Given the description of an element on the screen output the (x, y) to click on. 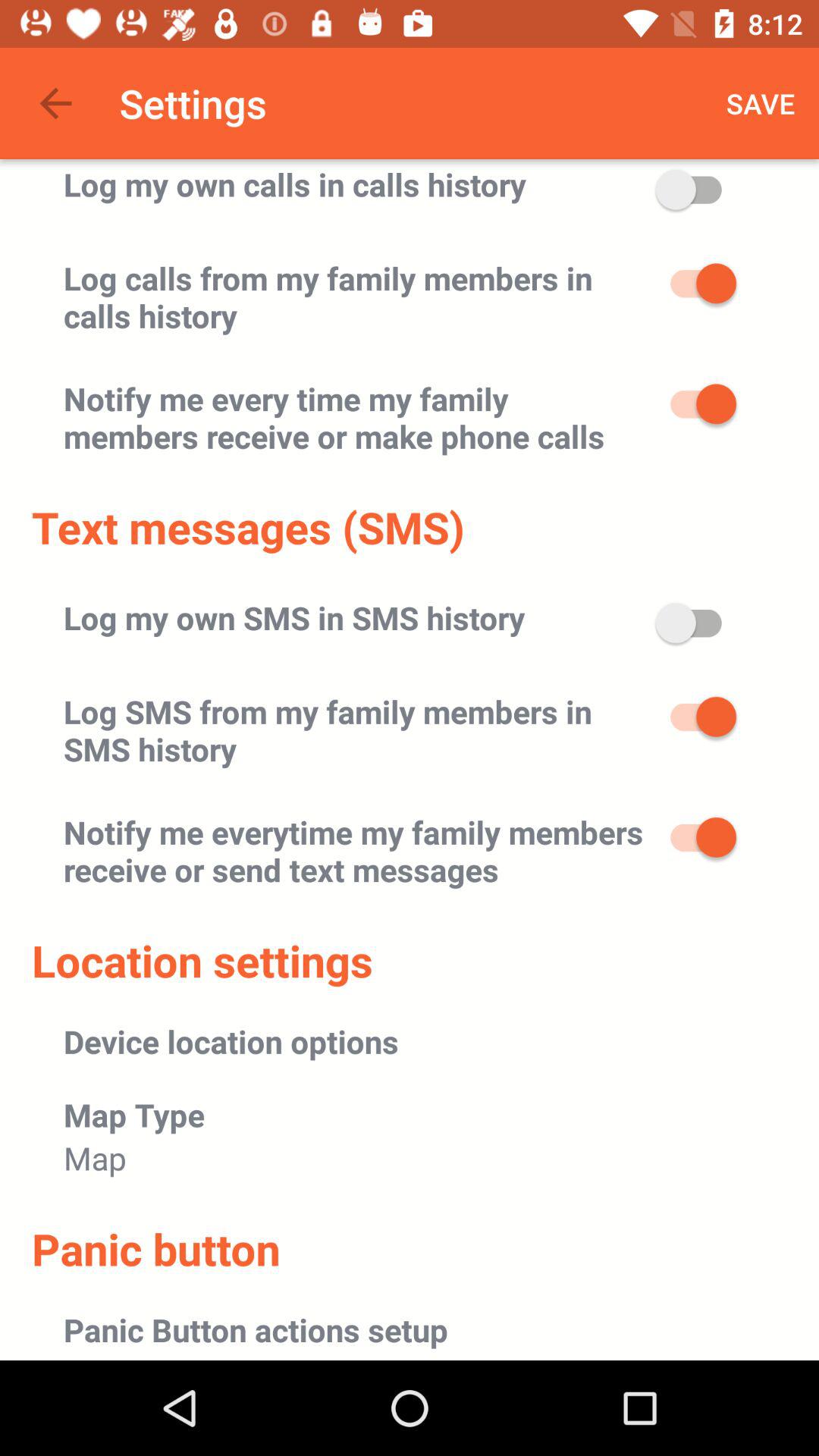
select item to the right of log my own (760, 103)
